Given the description of an element on the screen output the (x, y) to click on. 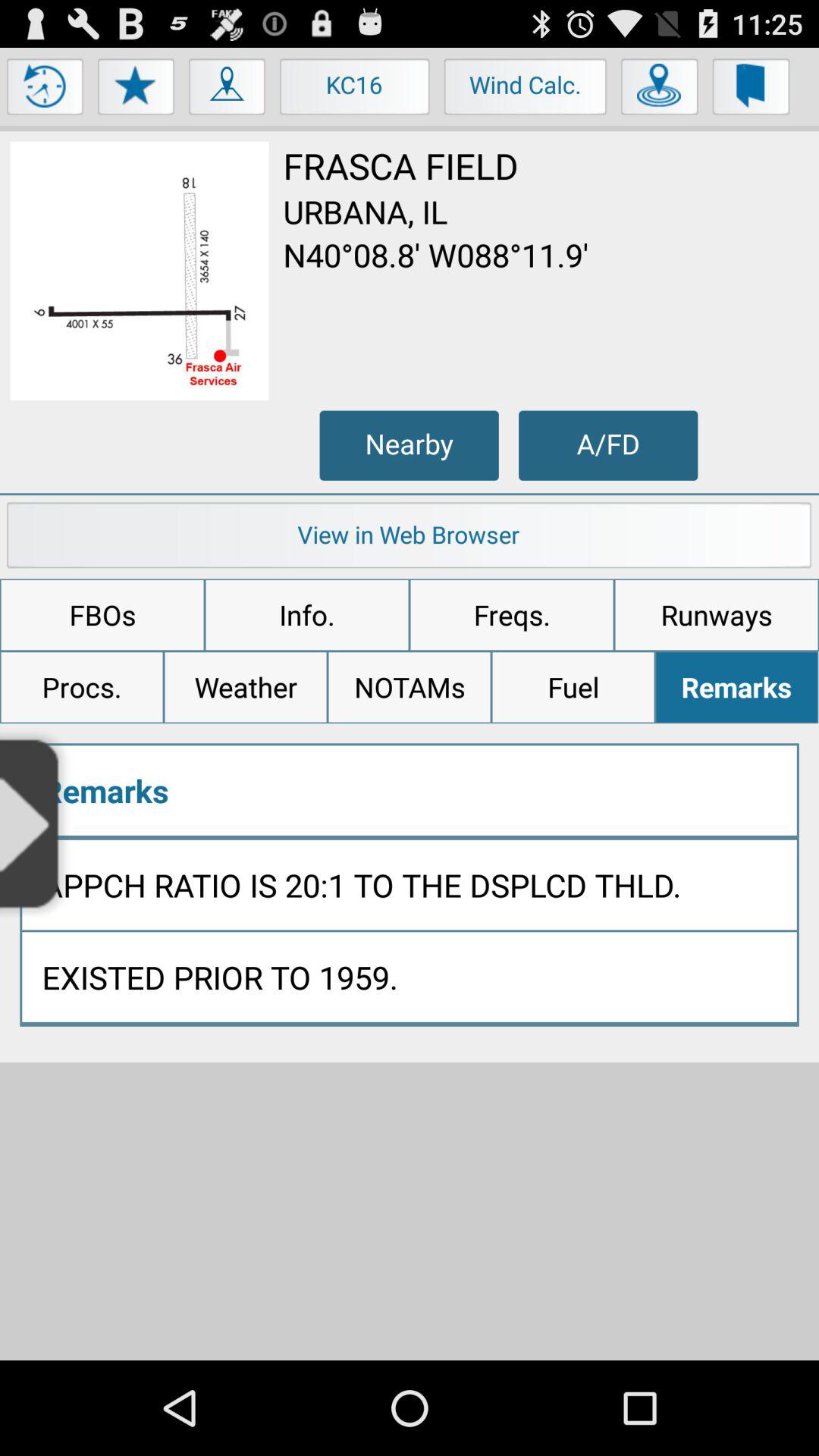
location icon (659, 90)
